Given the description of an element on the screen output the (x, y) to click on. 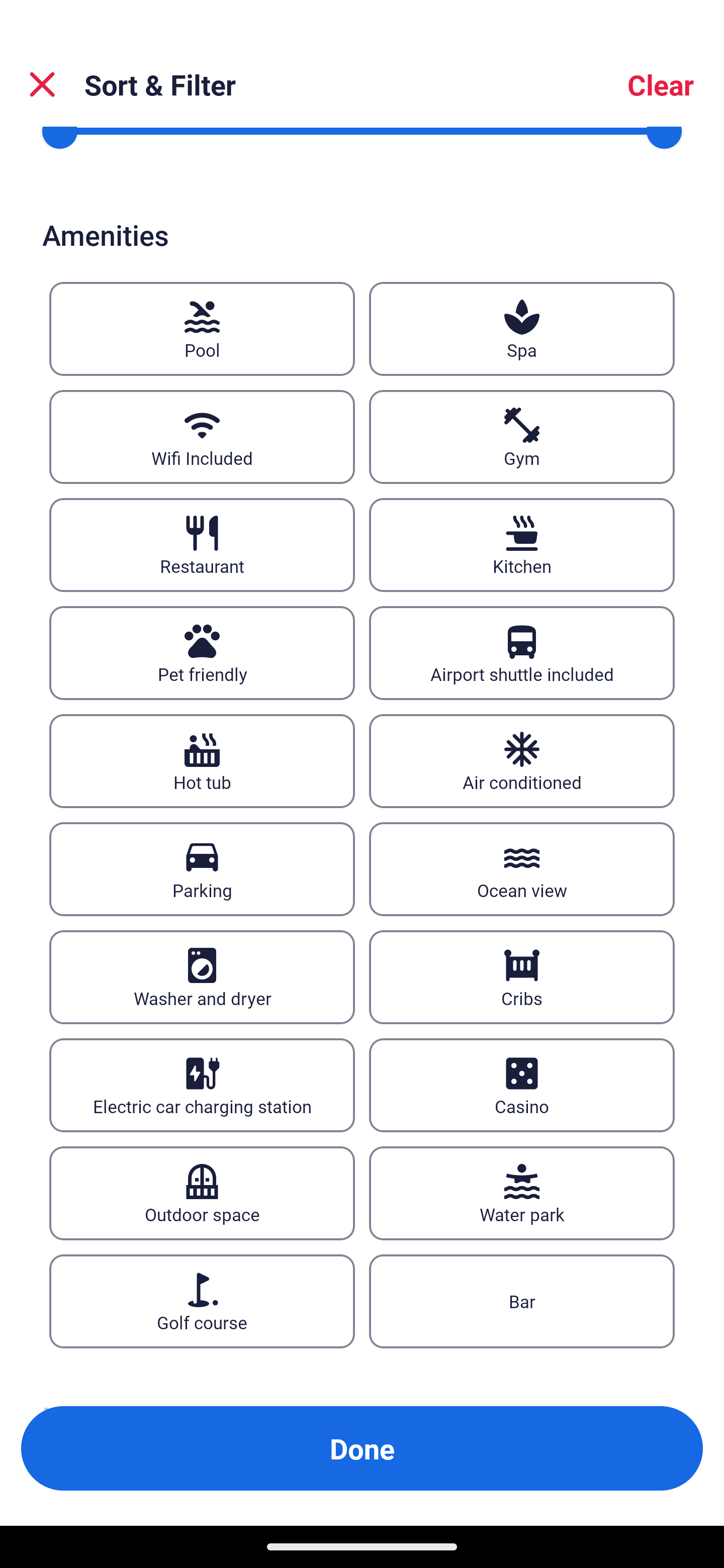
Close Sort and Filter (42, 84)
Clear (660, 84)
Pool (201, 329)
Spa (521, 329)
Wifi Included (201, 437)
Gym (521, 437)
Restaurant (201, 545)
Kitchen (521, 545)
Pet friendly (201, 652)
Airport shuttle included (521, 652)
Hot tub (201, 760)
Air conditioned (521, 760)
Parking (201, 868)
Ocean view (521, 868)
Washer and dryer (201, 976)
Cribs (521, 976)
Electric car charging station (201, 1085)
Casino (521, 1085)
Outdoor space (201, 1193)
Water park (521, 1193)
Golf course (201, 1301)
Bar (521, 1301)
Apply and close Sort and Filter Done (361, 1448)
